Given the description of an element on the screen output the (x, y) to click on. 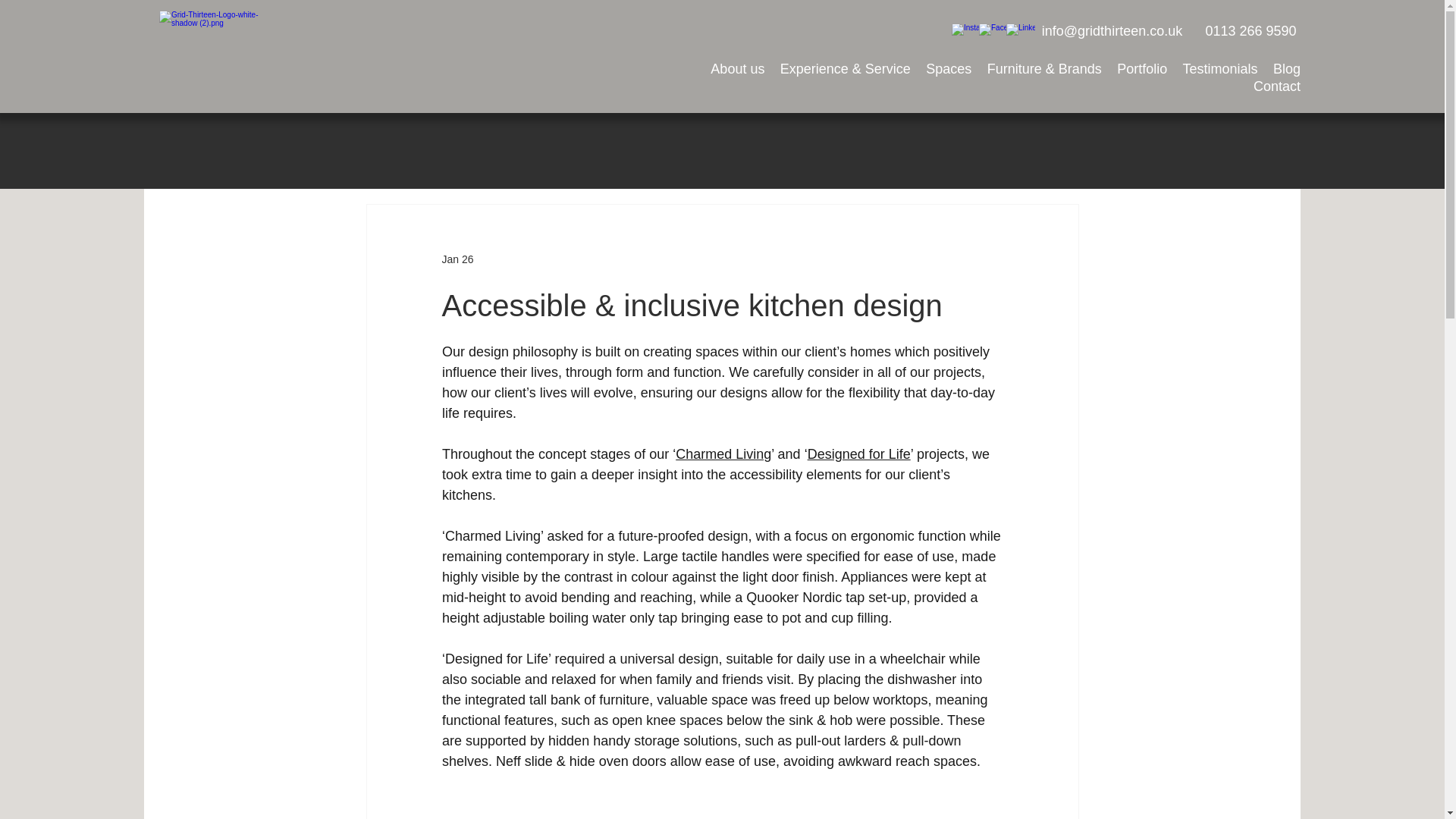
0113 266 9590 (1250, 31)
About us (737, 69)
Jan 26 (457, 259)
Spaces (948, 69)
